Given the description of an element on the screen output the (x, y) to click on. 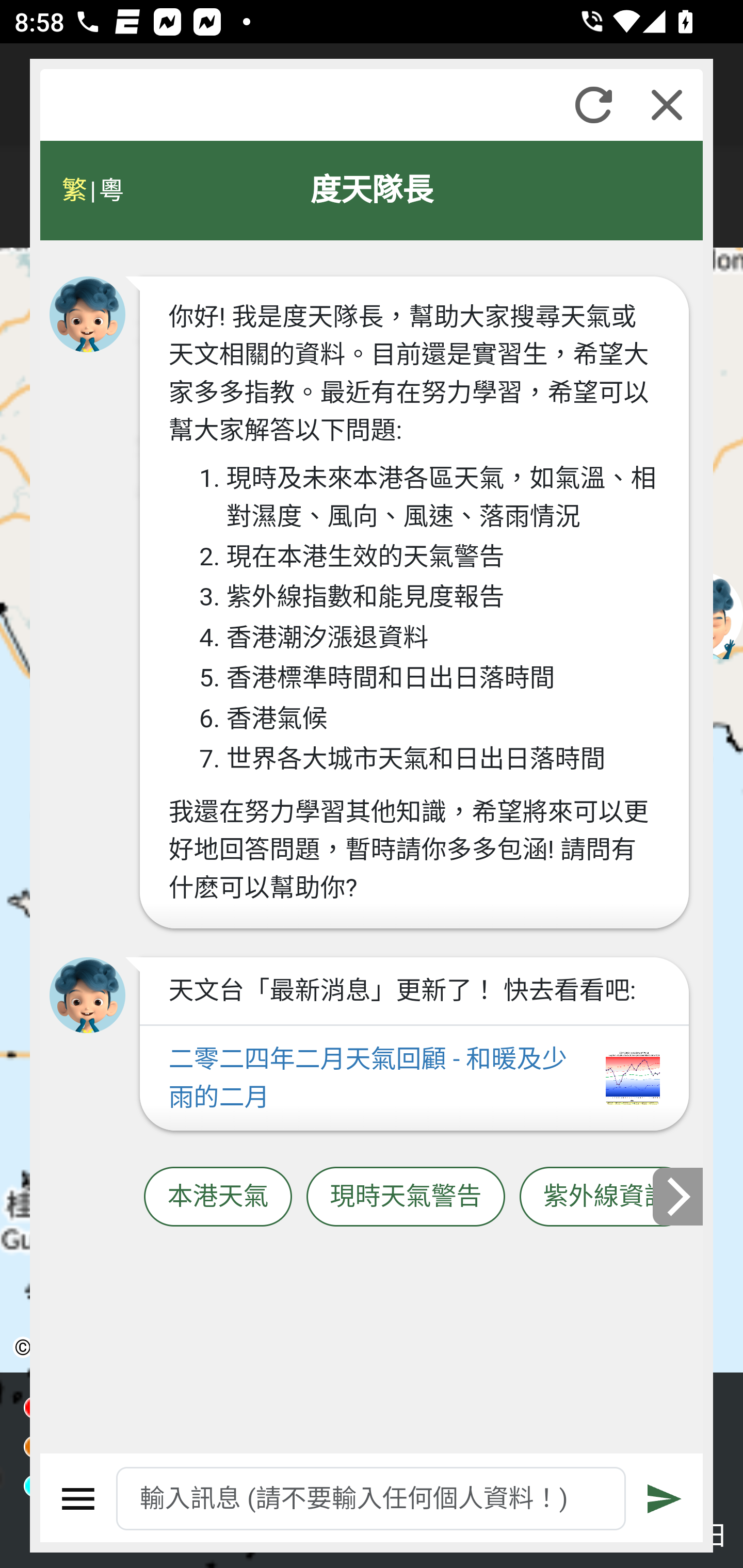
重新整理 (593, 104)
關閉 (666, 104)
繁 (73, 190)
粵 (110, 190)
二零二四年二月天氣回顧 - 和暖及少雨的二月 (413, 1078)
本港天氣 (217, 1196)
現時天氣警告 (405, 1196)
紫外線資訊 (605, 1196)
下一張 (678, 1196)
選單 (78, 1498)
遞交 (665, 1498)
